Given the description of an element on the screen output the (x, y) to click on. 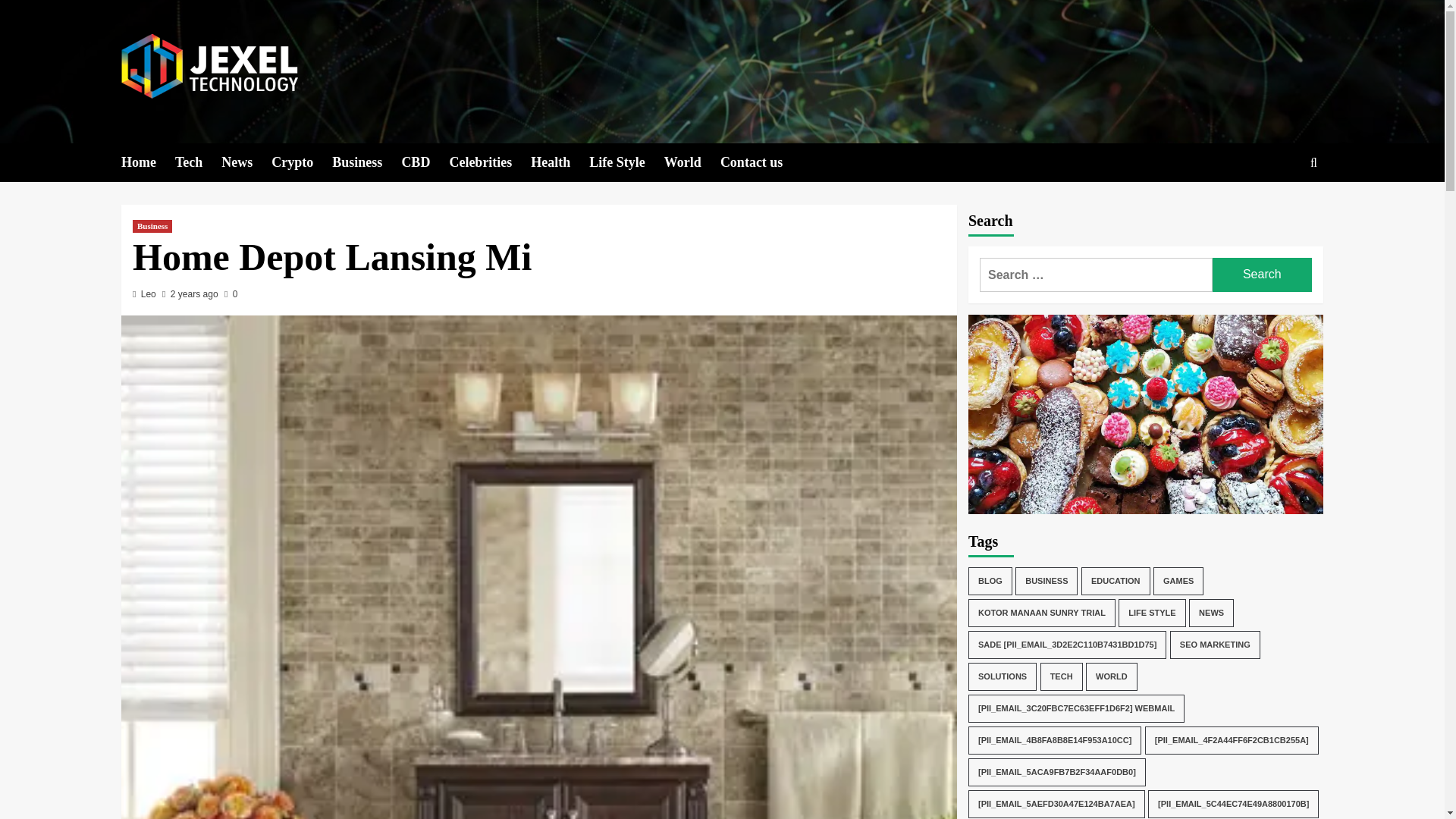
World (691, 162)
Celebrities (489, 162)
Leo (148, 294)
Contact us (761, 162)
Search (1278, 209)
Business (366, 162)
Search (1261, 274)
Life Style (626, 162)
Crypto (300, 162)
CBD (424, 162)
Business (151, 226)
2 years ago (194, 294)
Home (147, 162)
Search (1261, 274)
News (245, 162)
